Given the description of an element on the screen output the (x, y) to click on. 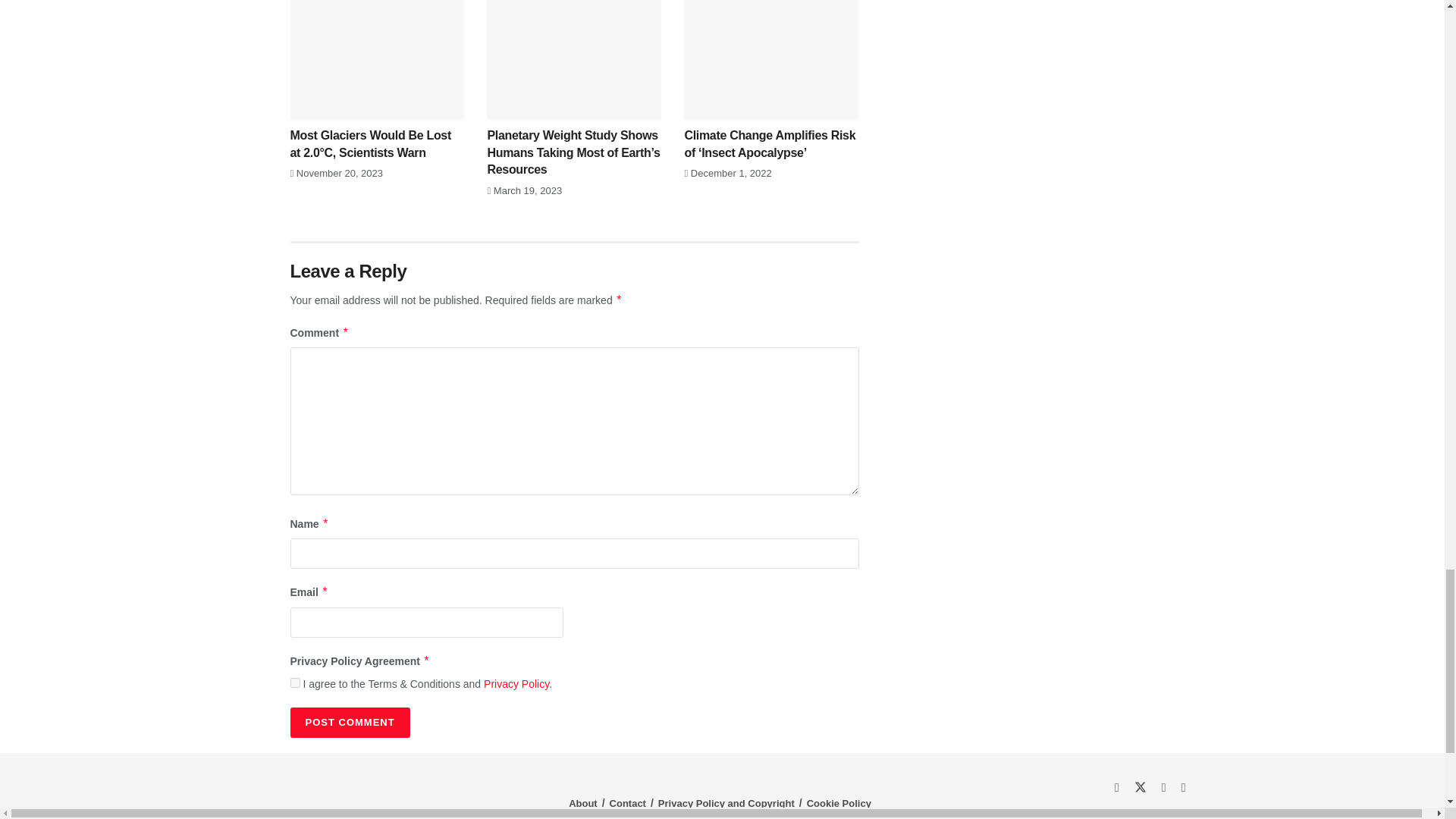
Post Comment (349, 722)
tem-logo-2024 (294, 799)
on (294, 682)
